Given the description of an element on the screen output the (x, y) to click on. 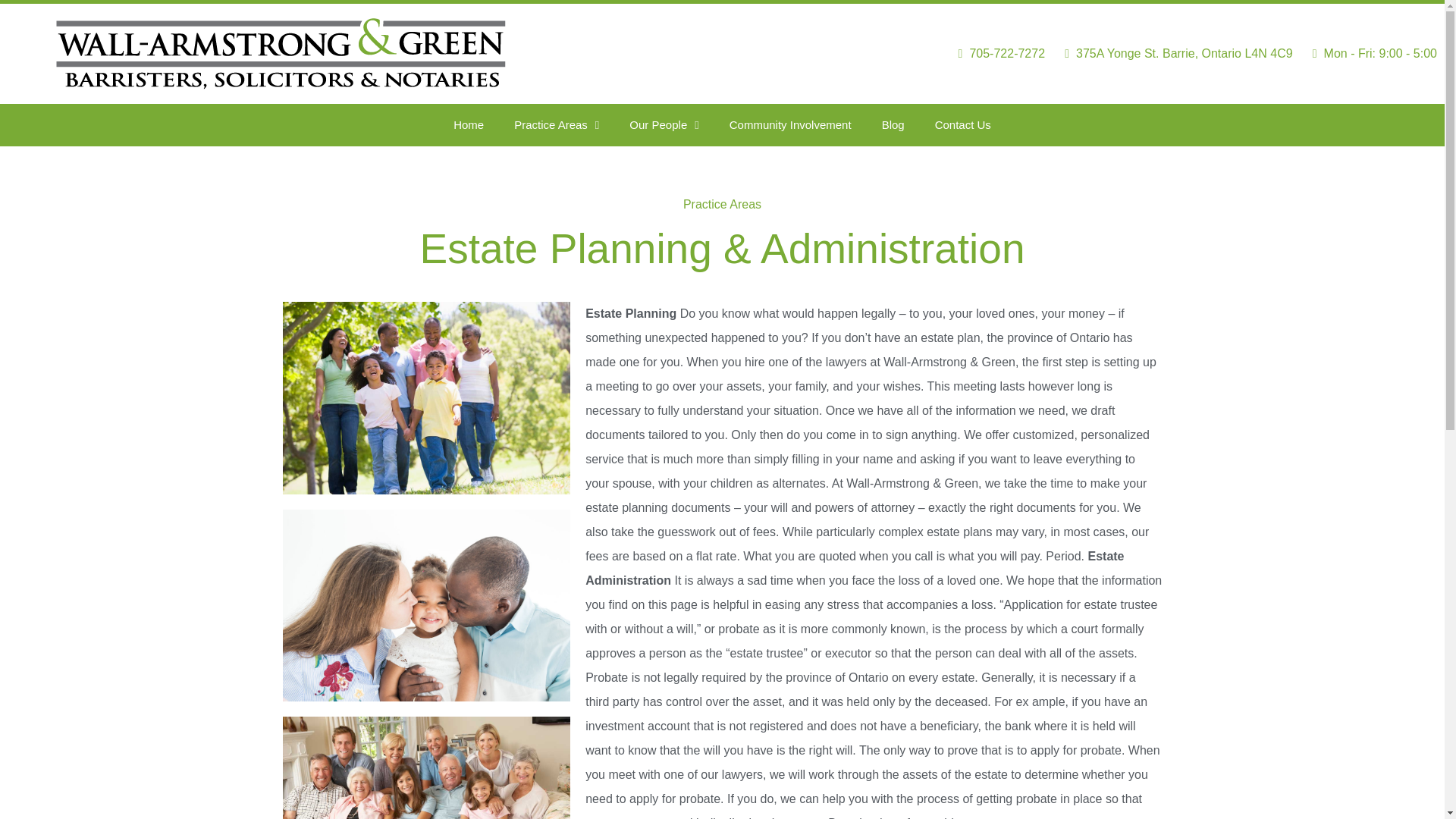
705-722-7272 (996, 53)
Community Involvement (790, 125)
Home (468, 125)
Contact Us (963, 125)
Our People (663, 125)
Blog (893, 125)
Practice Areas (556, 125)
